Given the description of an element on the screen output the (x, y) to click on. 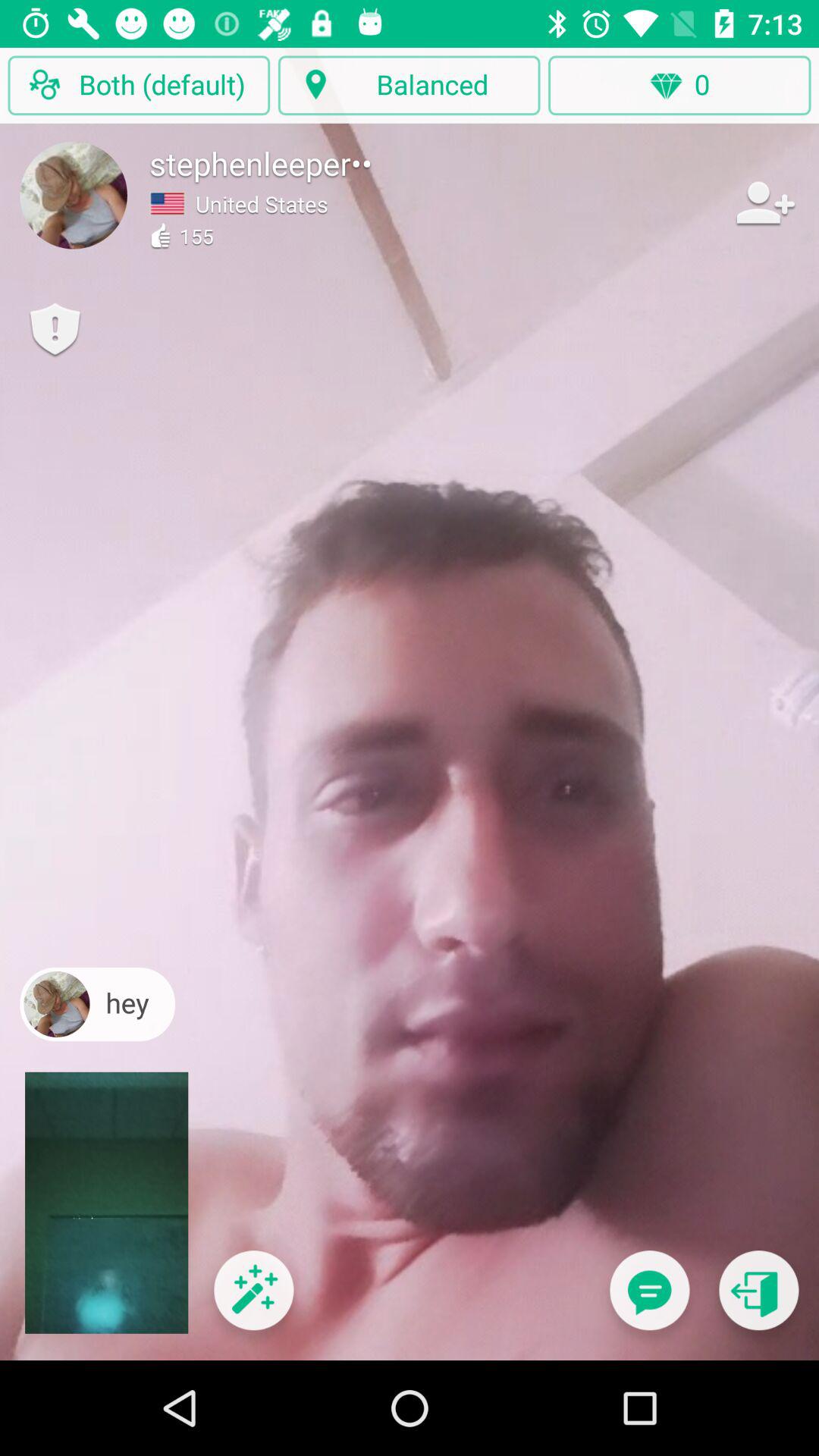
go to previous (758, 1300)
